Given the description of an element on the screen output the (x, y) to click on. 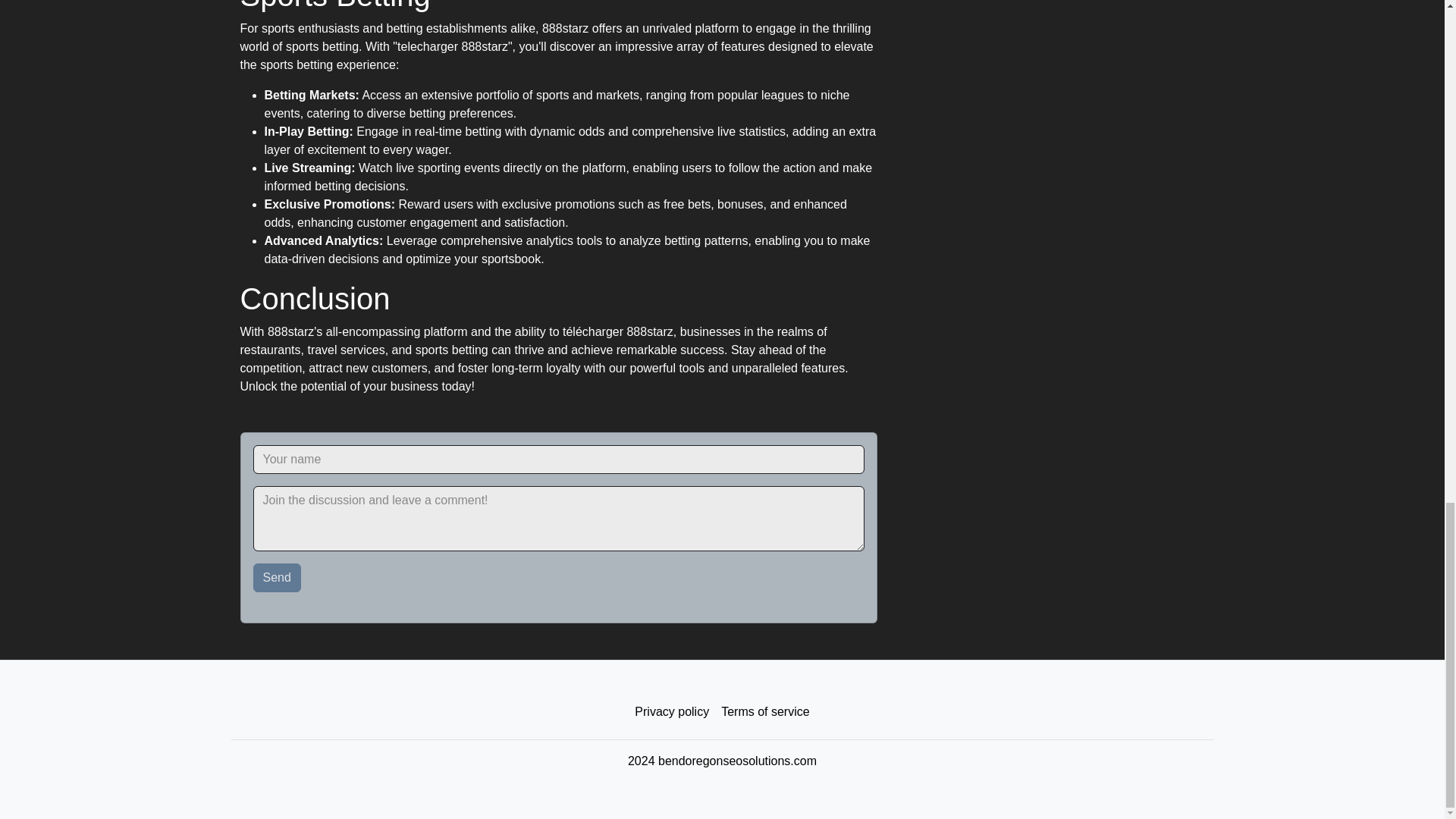
Send (277, 577)
Terms of service (764, 711)
Privacy policy (671, 711)
Send (277, 577)
